Given the description of an element on the screen output the (x, y) to click on. 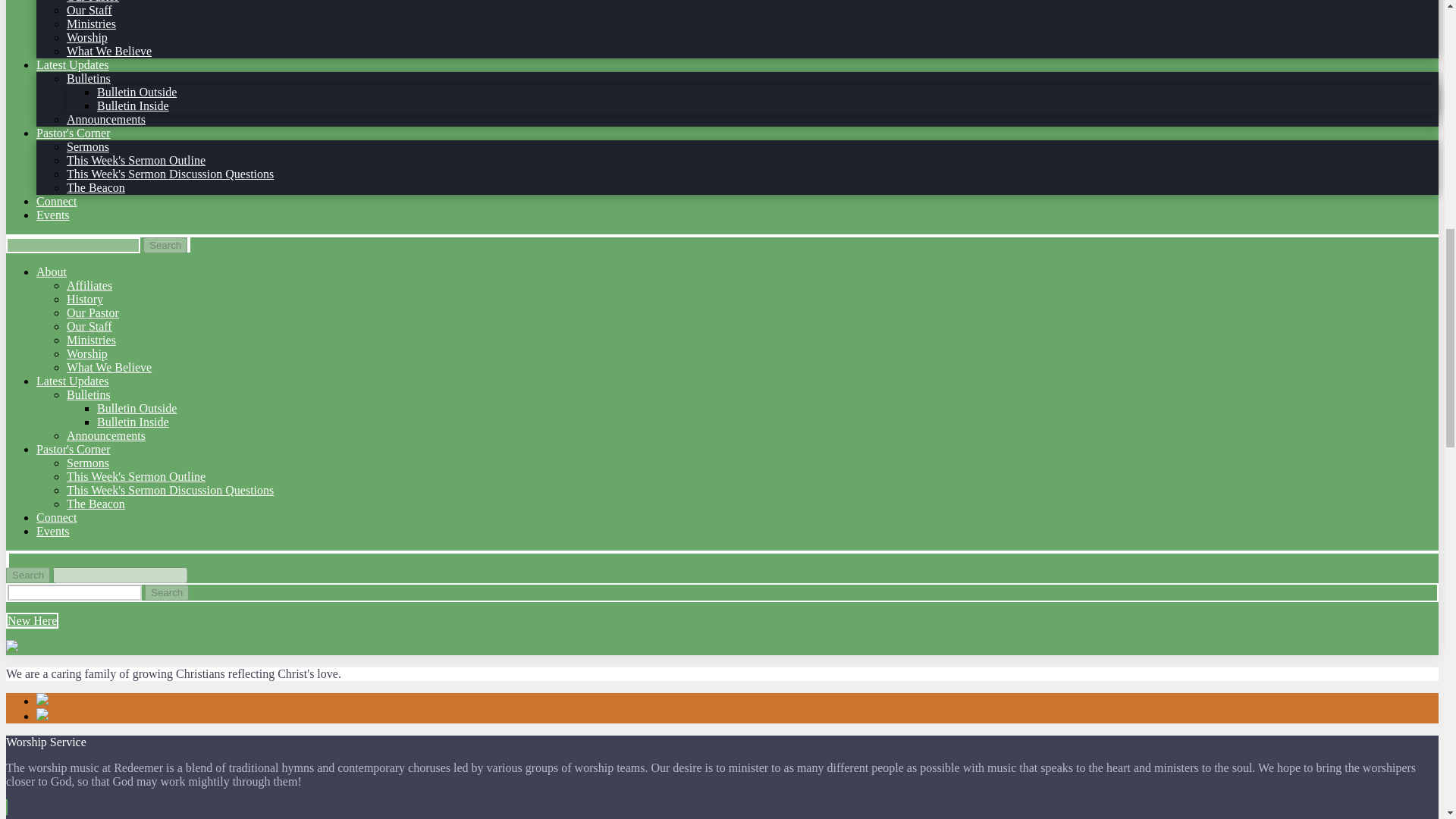
Search (166, 592)
Search (27, 575)
Search (164, 245)
Search (27, 575)
Search (164, 245)
Search (166, 592)
